Given the description of an element on the screen output the (x, y) to click on. 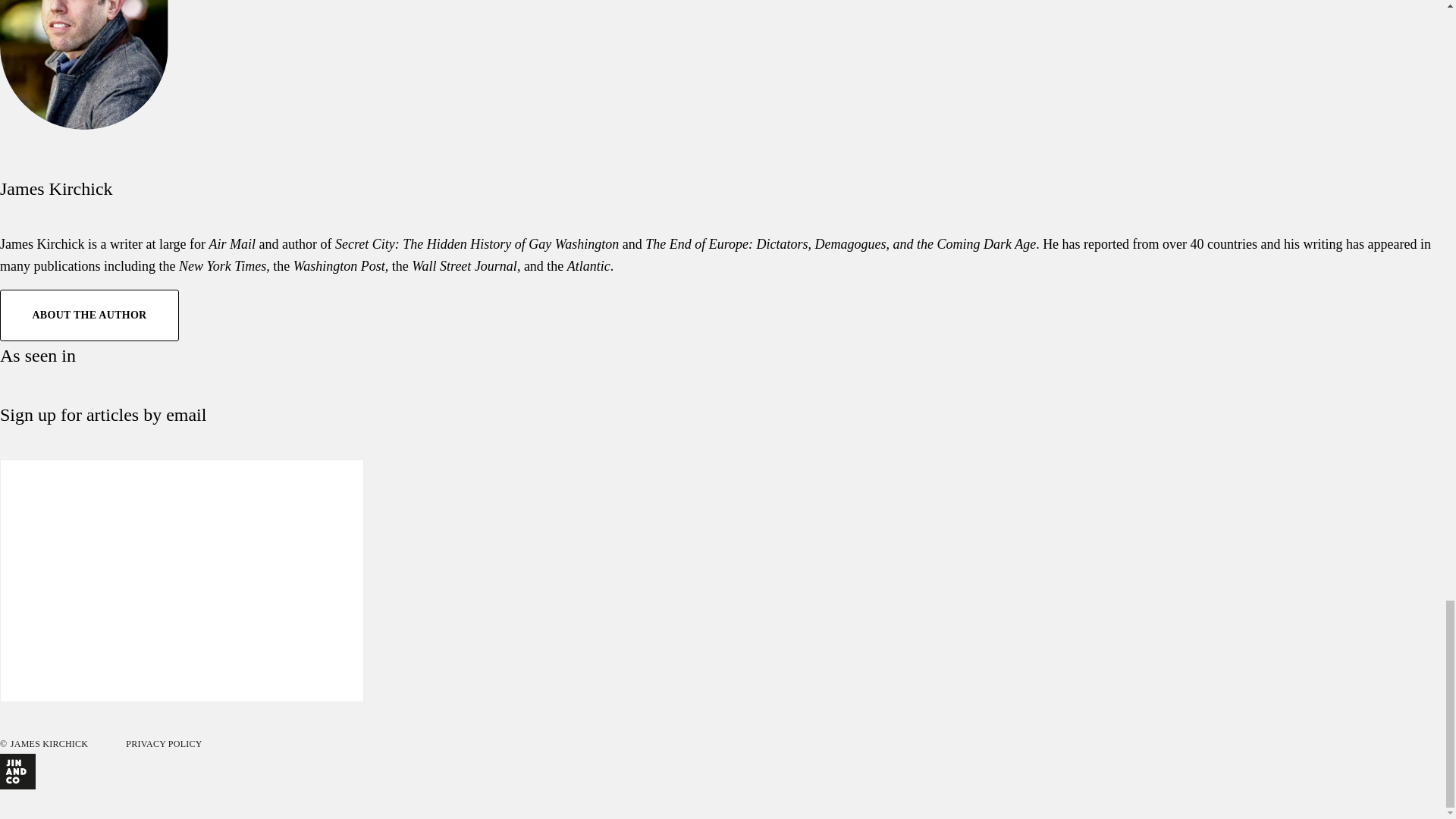
ABOUT THE AUTHOR (89, 315)
James Kirchick (56, 189)
JAMES KIRCHICK (48, 743)
PRIVACY POLICY (163, 743)
